Given the description of an element on the screen output the (x, y) to click on. 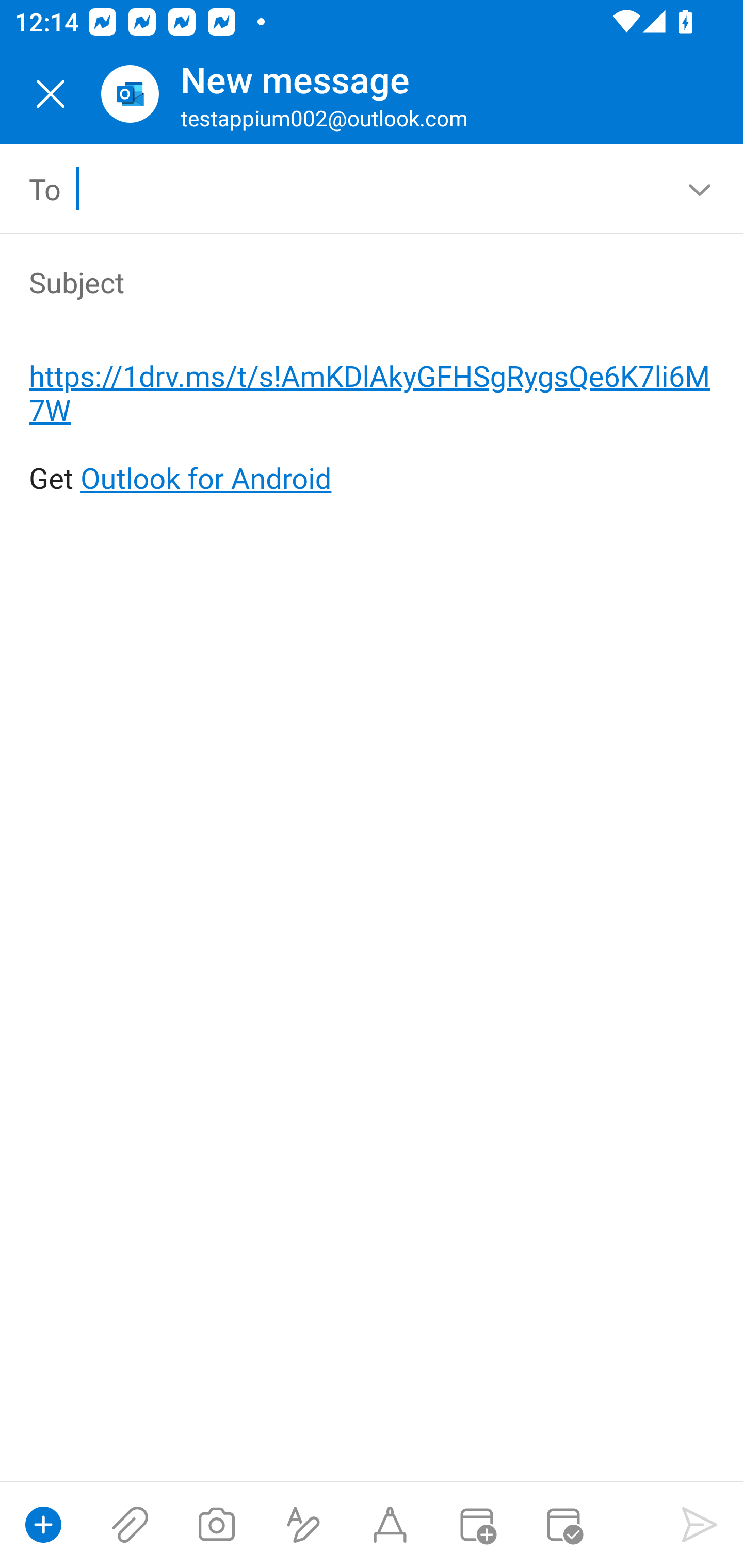
Close (50, 93)
Subject (342, 281)
Show compose options (43, 1524)
Attach files (129, 1524)
Take a photo (216, 1524)
Show formatting options (303, 1524)
Start Ink compose (389, 1524)
Convert to event (476, 1524)
Send availability (563, 1524)
Send (699, 1524)
